Given the description of an element on the screen output the (x, y) to click on. 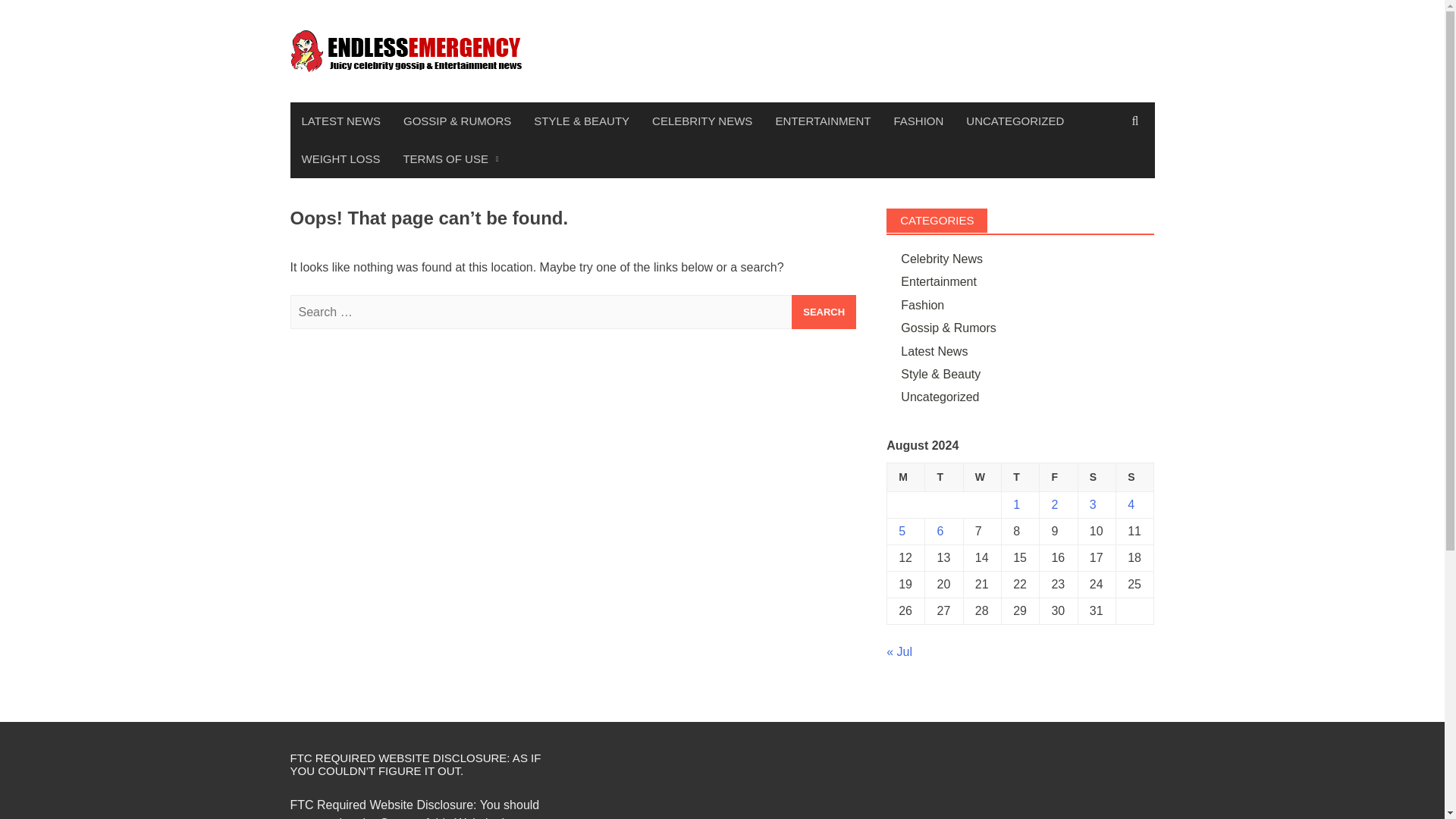
Search (824, 311)
LATEST NEWS (340, 121)
UNCATEGORIZED (1015, 121)
Fashion (922, 305)
Wednesday (981, 477)
FASHION (918, 121)
Tuesday (943, 477)
Friday (1058, 477)
Search (824, 311)
Saturday (1096, 477)
Celebrity News (941, 258)
Sunday (1135, 477)
CELEBRITY NEWS (701, 121)
ENTERTAINMENT (822, 121)
Entertainment (938, 281)
